Given the description of an element on the screen output the (x, y) to click on. 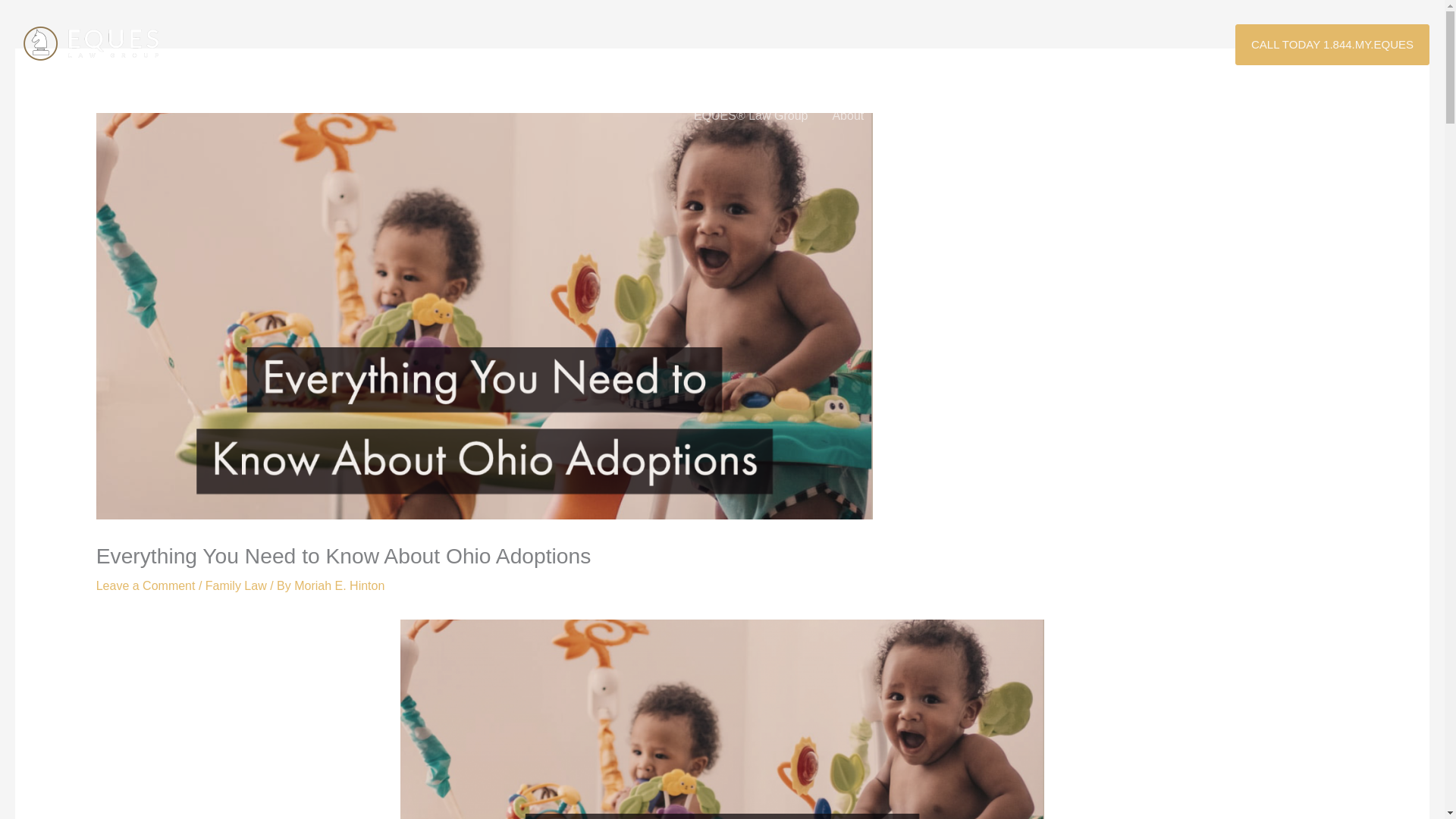
Leave a Comment (145, 585)
Practice Areas (1004, 115)
CALL TODAY 1.844.MY.EQUES (1331, 44)
About (847, 115)
Contact (1395, 115)
View all posts by Moriah E. Hinton (339, 585)
Family Law (235, 585)
Locations (1093, 115)
Blog (1338, 115)
Our Team (914, 115)
Careers (1280, 115)
Moriah E. Hinton (339, 585)
Make a Payment (1189, 115)
